Given the description of an element on the screen output the (x, y) to click on. 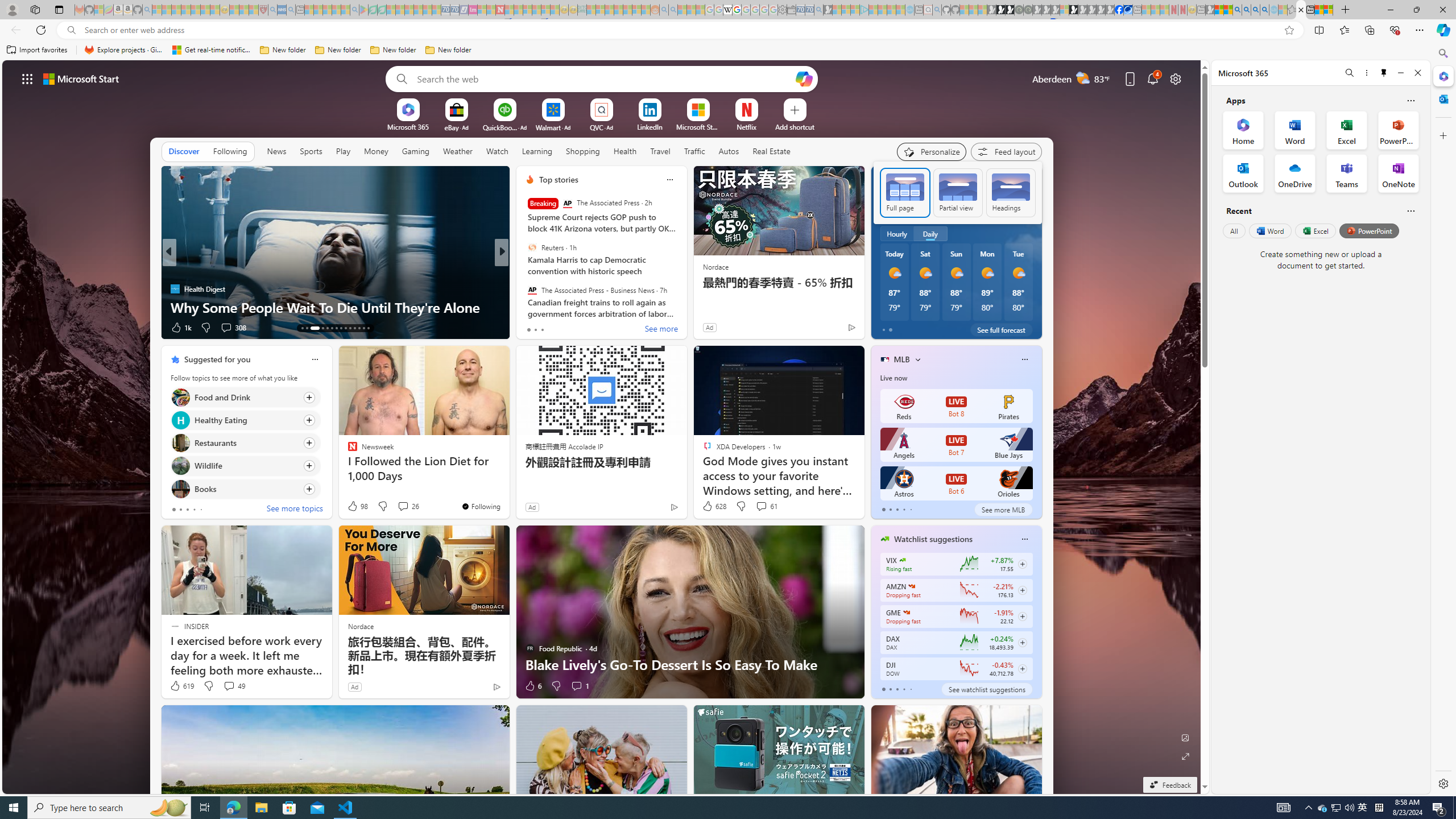
Wildlife (180, 466)
tab-3 (903, 689)
View comments 3 Comment (580, 327)
tab-2 (897, 689)
Class: weather-arrow-glyph (1029, 208)
Books (180, 488)
Trusted Community Engagement and Contributions | Guidelines (508, 9)
Health Digest (174, 288)
